Given the description of an element on the screen output the (x, y) to click on. 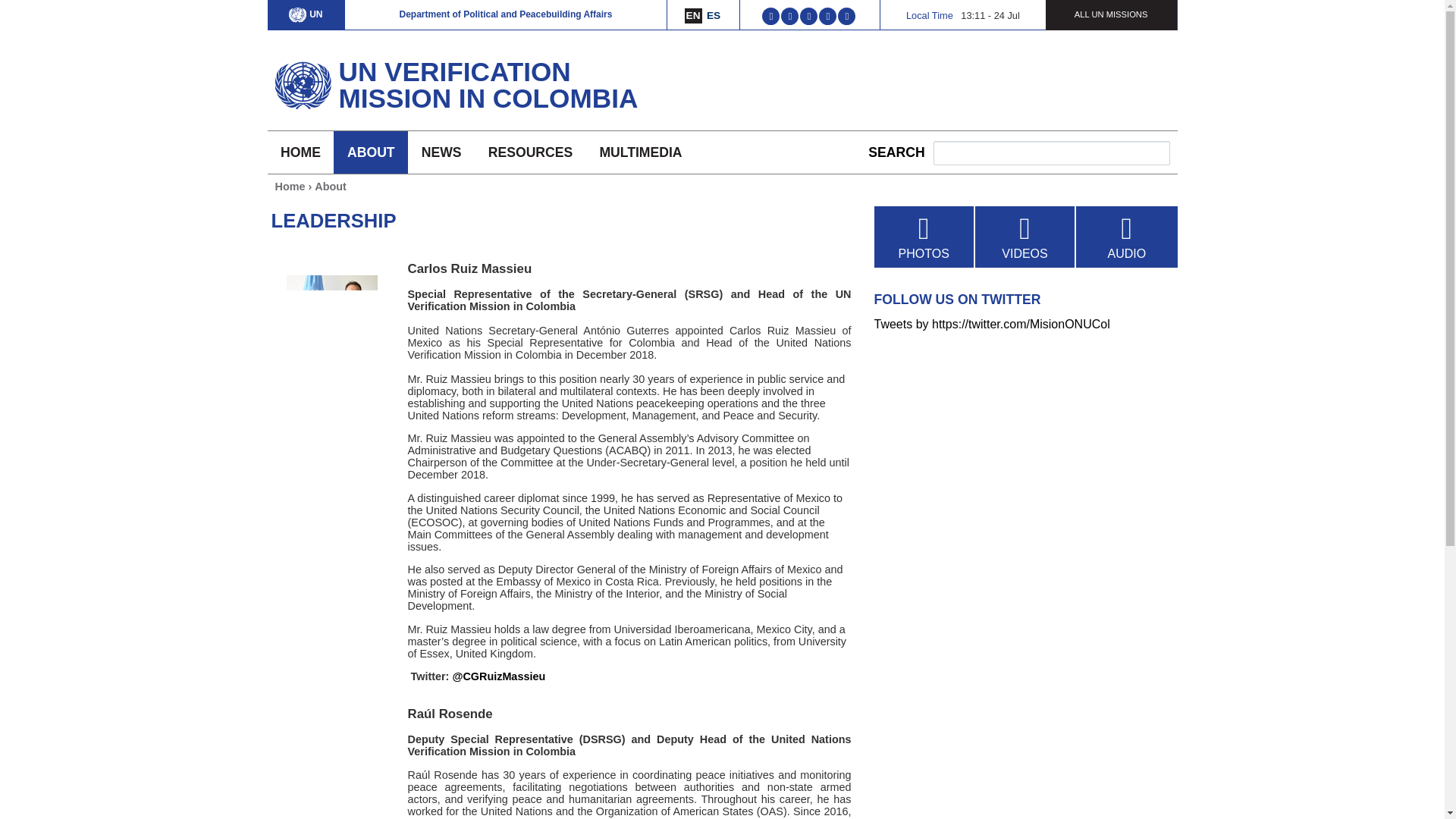
ABOUT (370, 152)
Home (475, 84)
MULTIMEDIA (640, 152)
Find us on YouTube (808, 16)
About (330, 186)
HOME (299, 152)
Find us on Instagram (846, 16)
Find us on Facebook (789, 16)
Department of Political and Peacebuilding Affairs (504, 14)
Find us on Facebook (789, 16)
Find us on Twitter (770, 16)
UN VERIFICATION MISSION IN COLOMBIA (475, 84)
Home (301, 80)
Find us on Flickr (827, 16)
UN (304, 14)
